Given the description of an element on the screen output the (x, y) to click on. 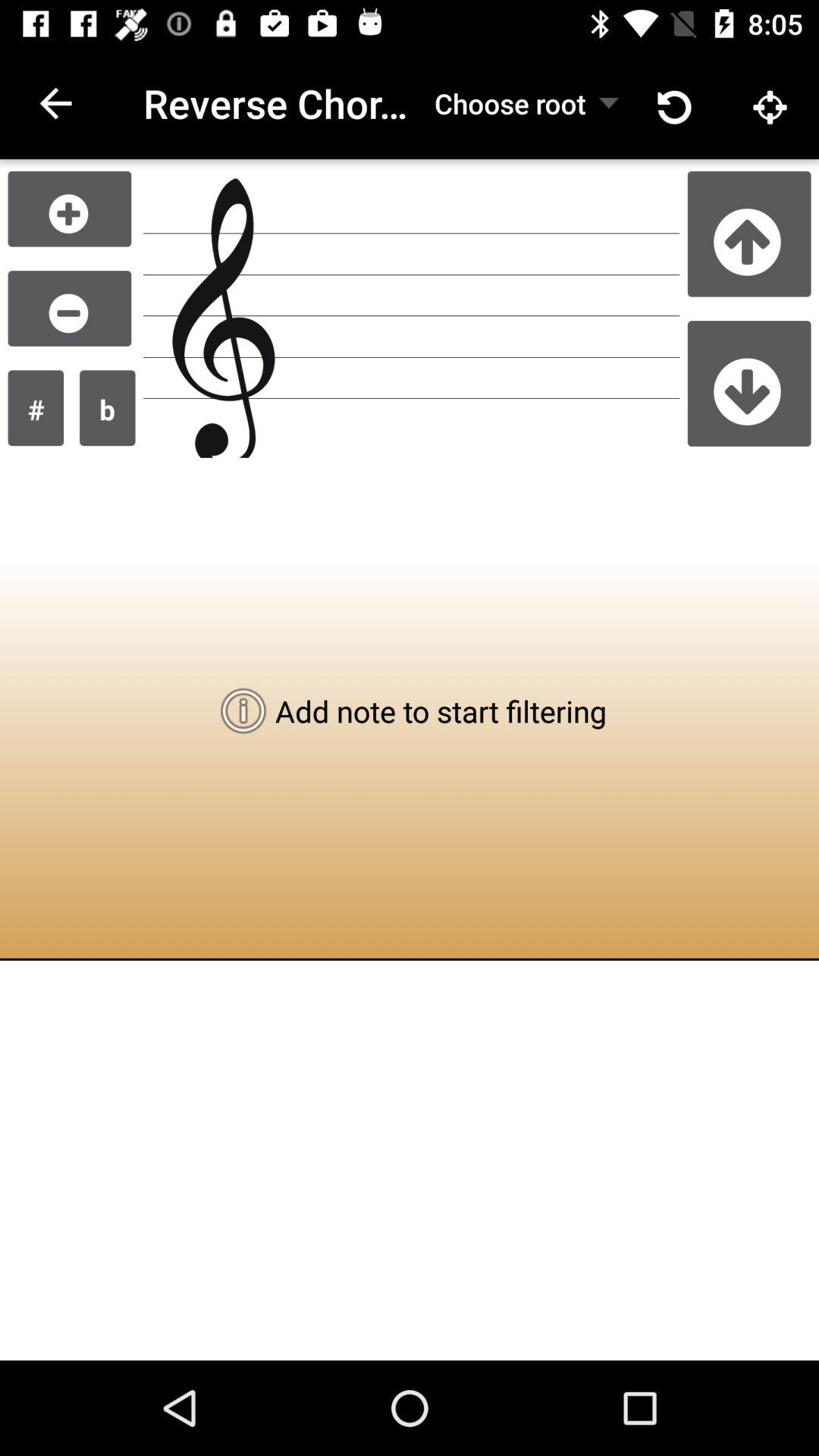
scroll until choose root item (509, 103)
